Given the description of an element on the screen output the (x, y) to click on. 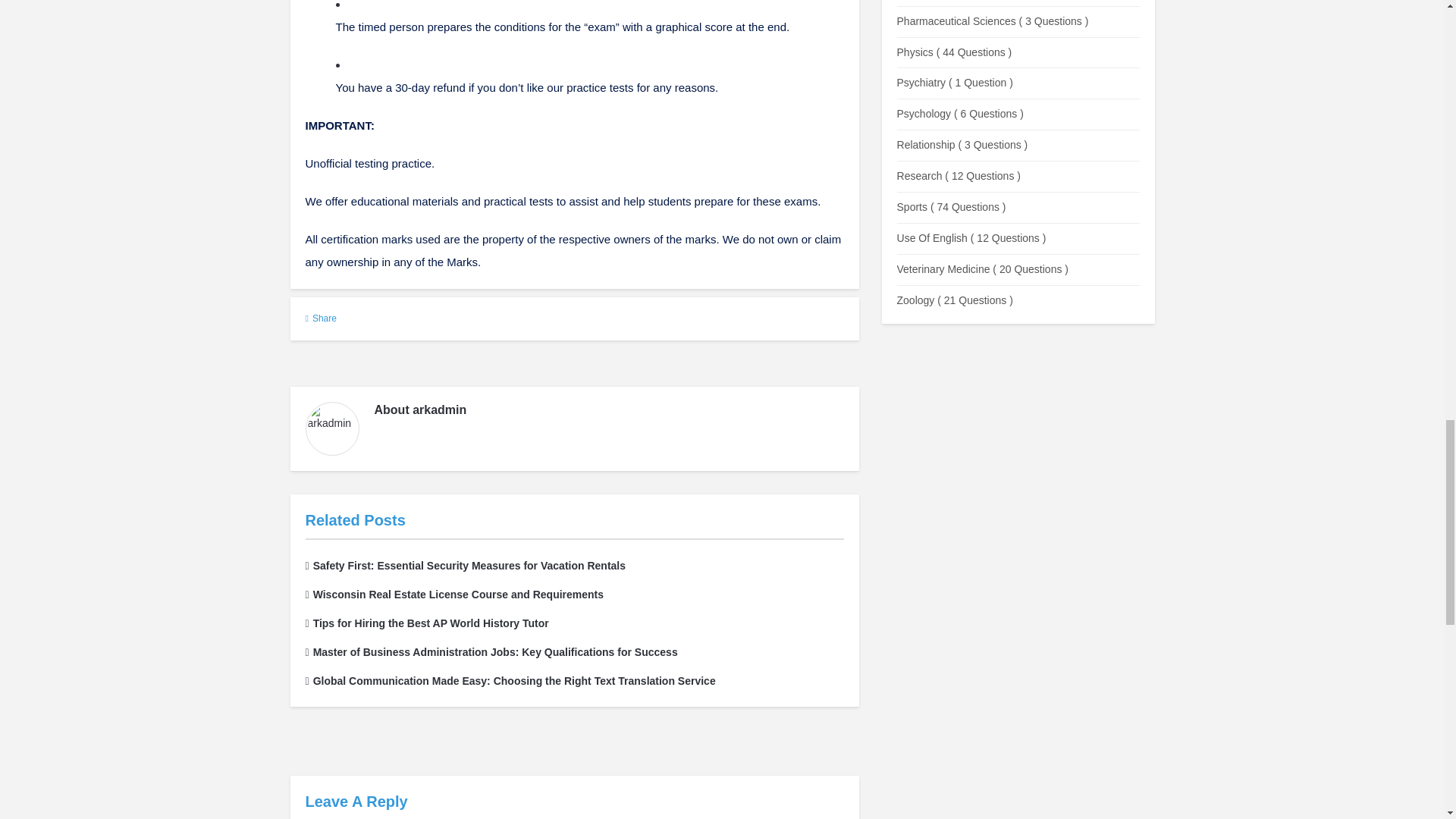
Wisconsin Real Estate License Course and Requirements (454, 594)
Tips for Hiring the Best AP World History Tutor (426, 623)
